Given the description of an element on the screen output the (x, y) to click on. 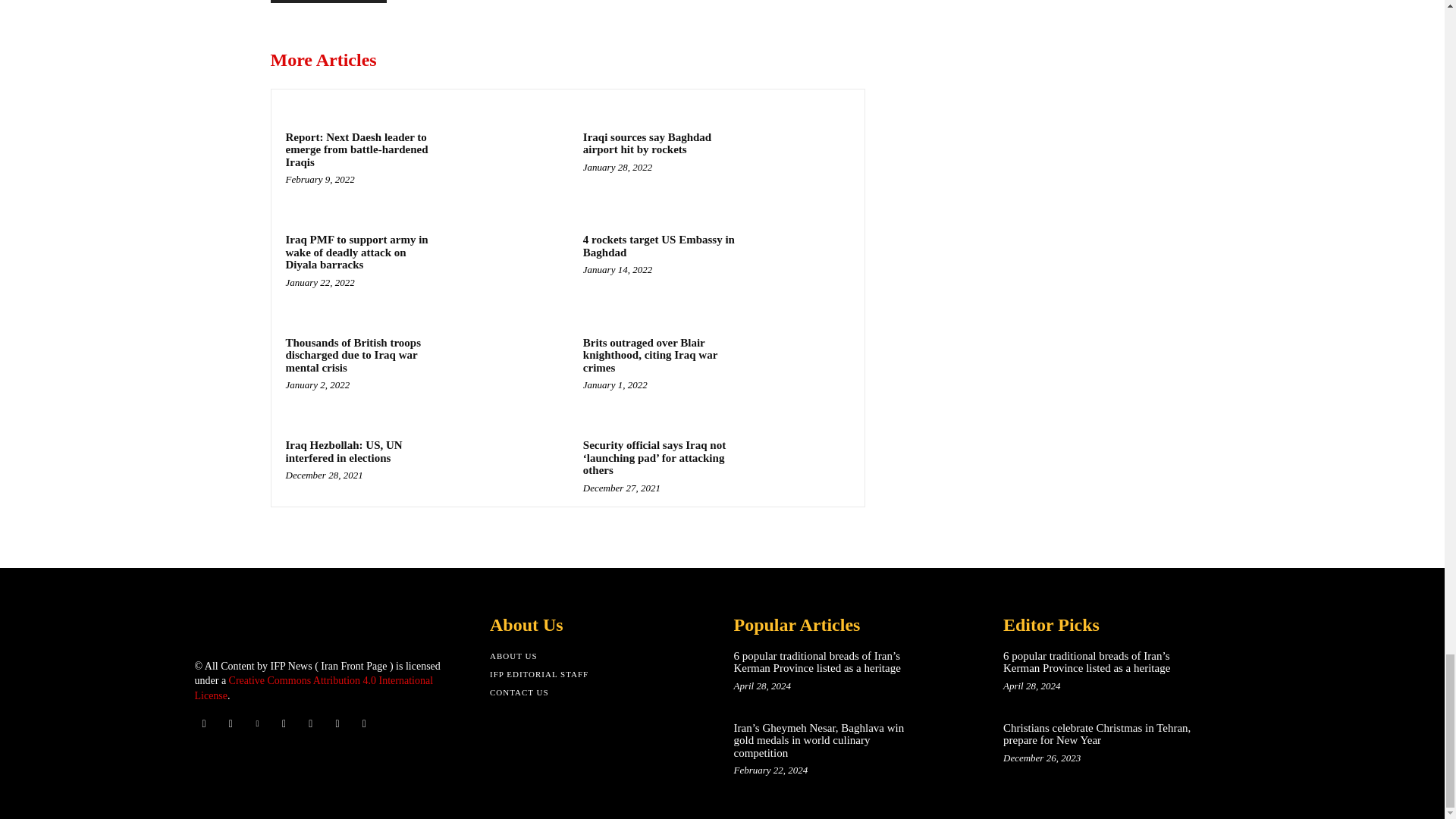
Post Comment (327, 1)
